Given the description of an element on the screen output the (x, y) to click on. 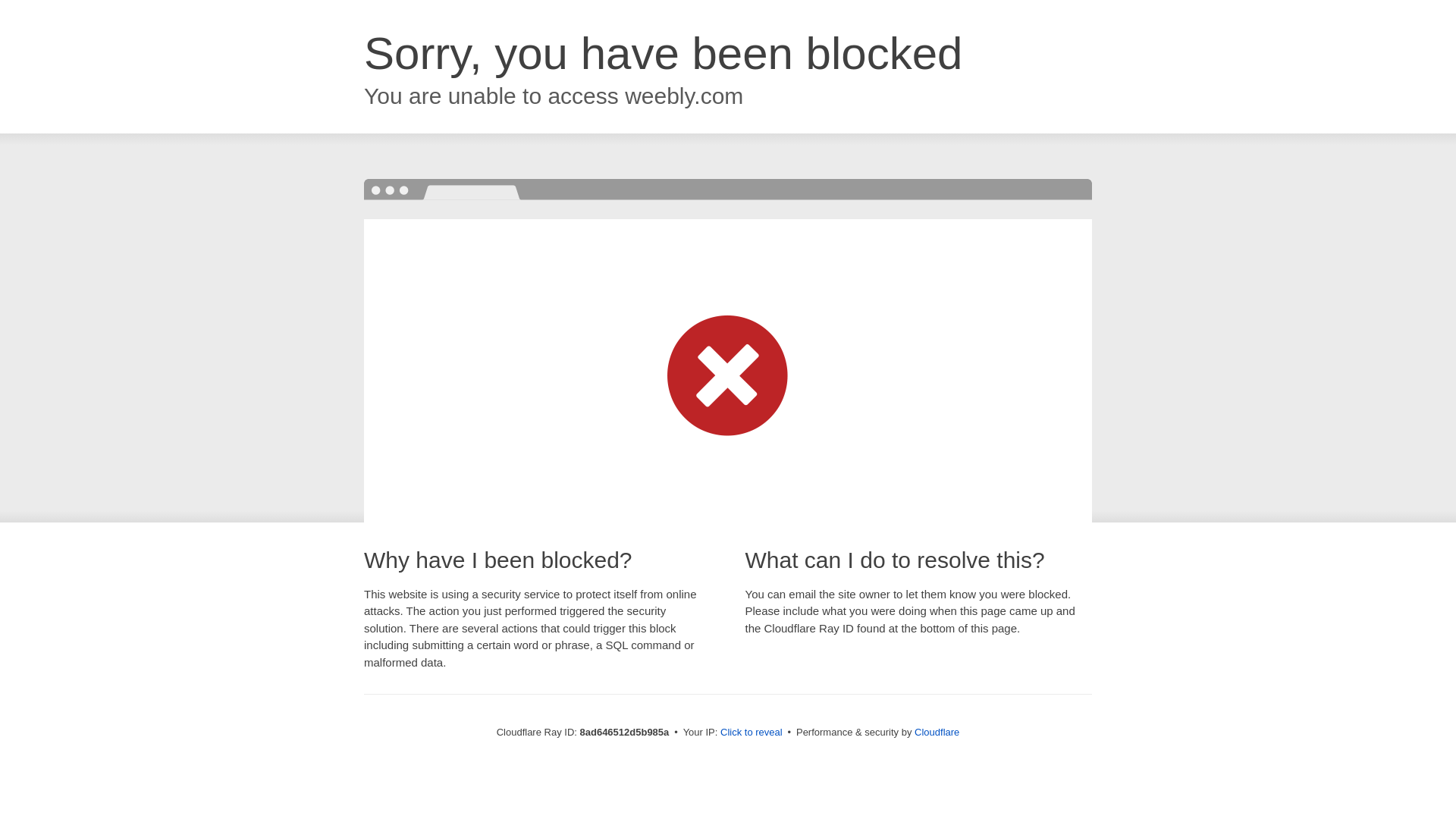
Click to reveal (751, 732)
Cloudflare (936, 731)
